Given the description of an element on the screen output the (x, y) to click on. 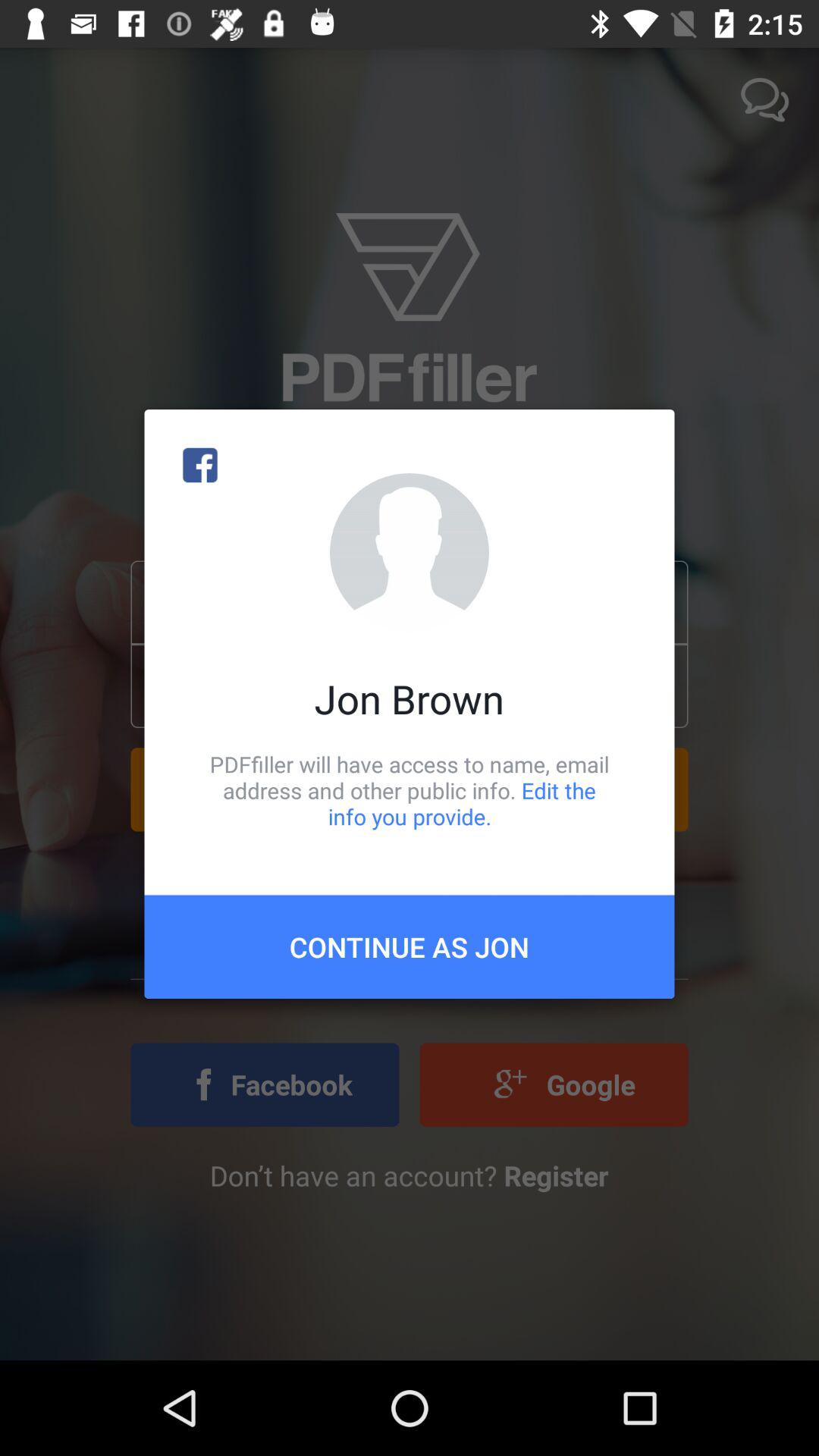
select the pdffiller will have (409, 790)
